Given the description of an element on the screen output the (x, y) to click on. 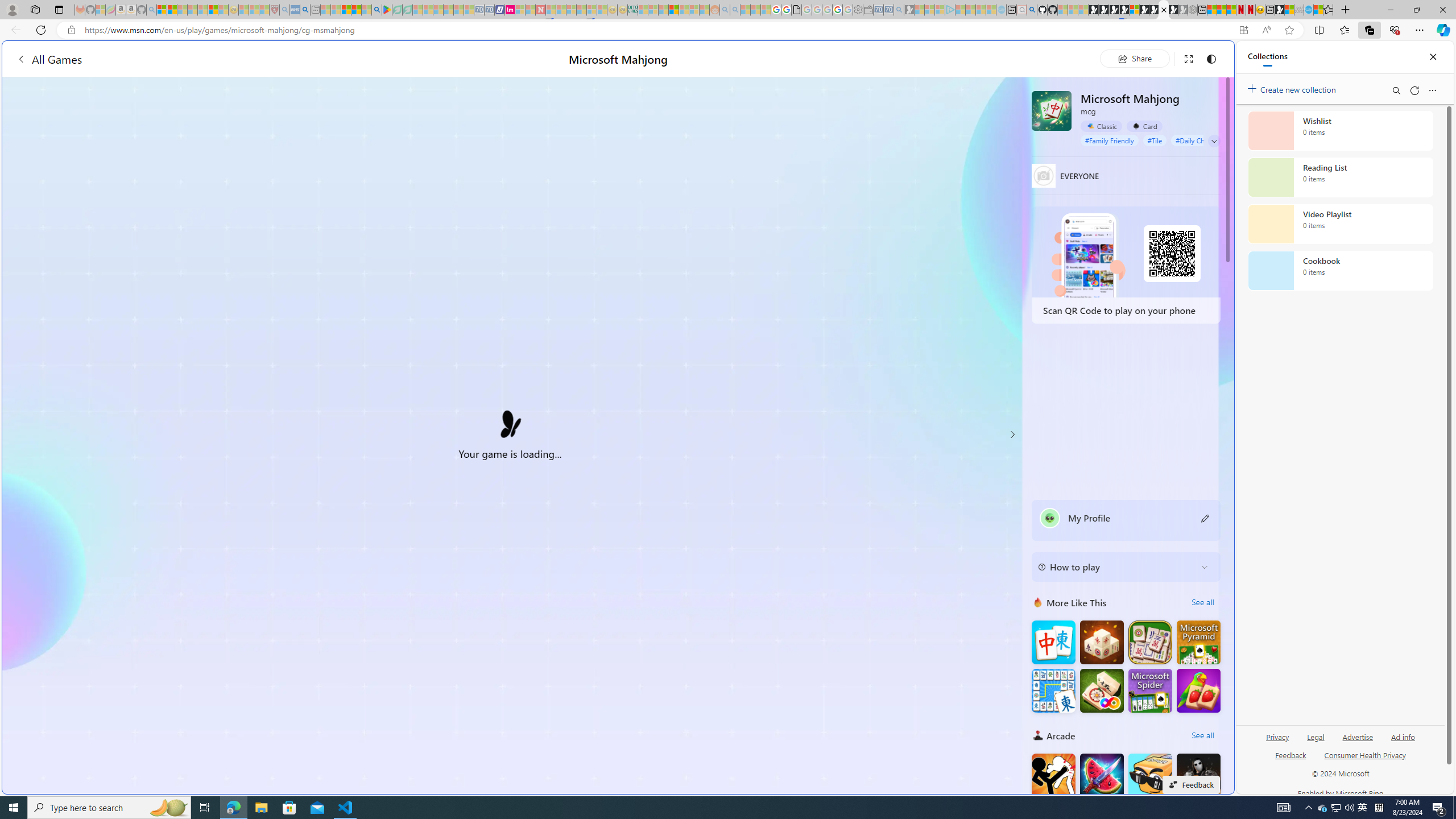
EVERYONE (1043, 175)
Microsoft Spider Solitaire (1149, 690)
Microsoft Mahjong (1051, 110)
See all (1202, 735)
Search or enter web address (922, 108)
